Given the description of an element on the screen output the (x, y) to click on. 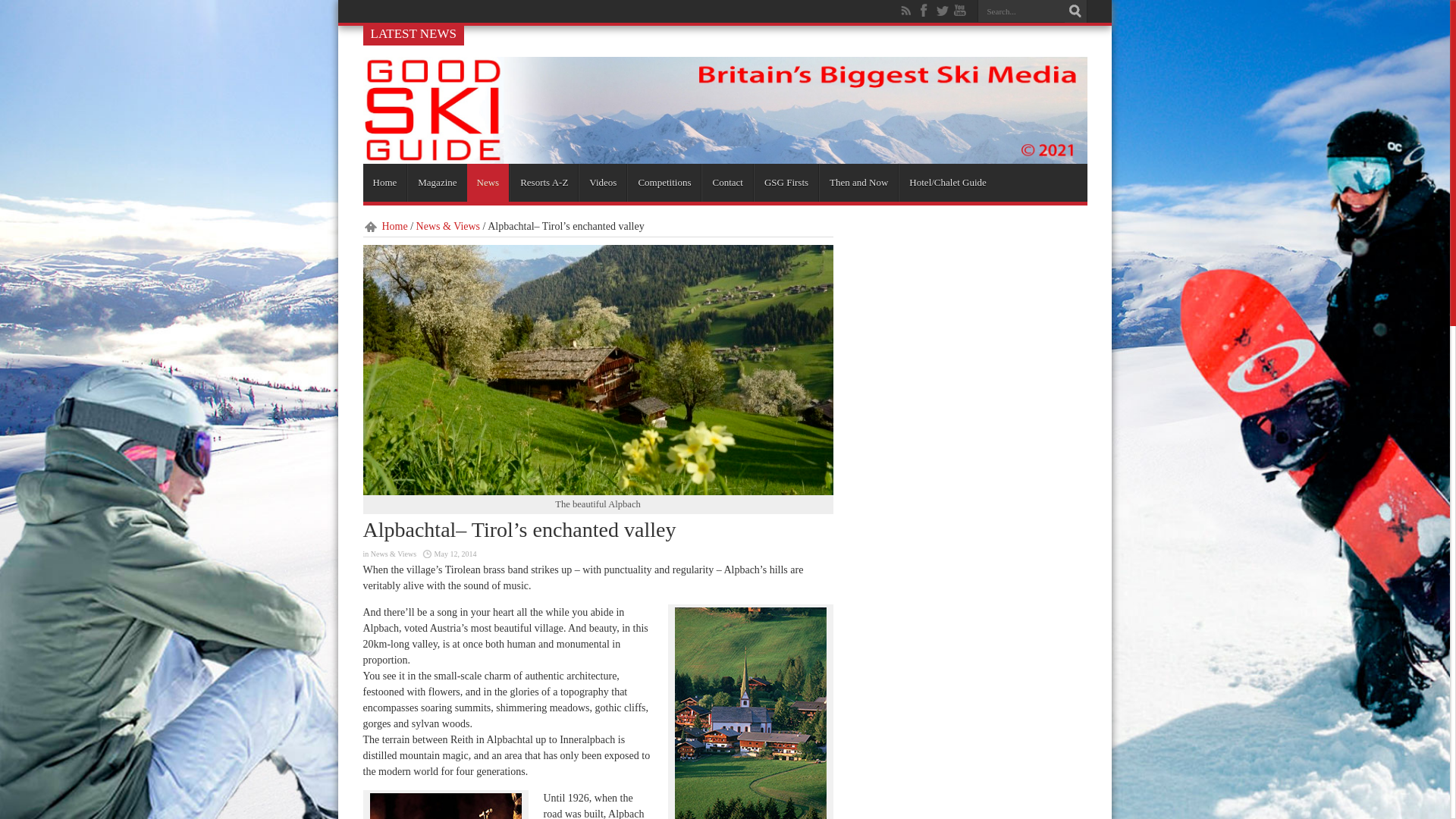
Facebook (923, 10)
Rss (905, 10)
Twitter (941, 10)
GSG Firsts (786, 182)
Resorts A-Z (543, 182)
Youtube (960, 10)
Good Ski Guide (724, 158)
Search (1075, 11)
Search (1075, 11)
Magazine (436, 182)
News (488, 182)
Contact (726, 182)
Search (1075, 11)
Home (384, 182)
Then and Now (858, 182)
